Given the description of an element on the screen output the (x, y) to click on. 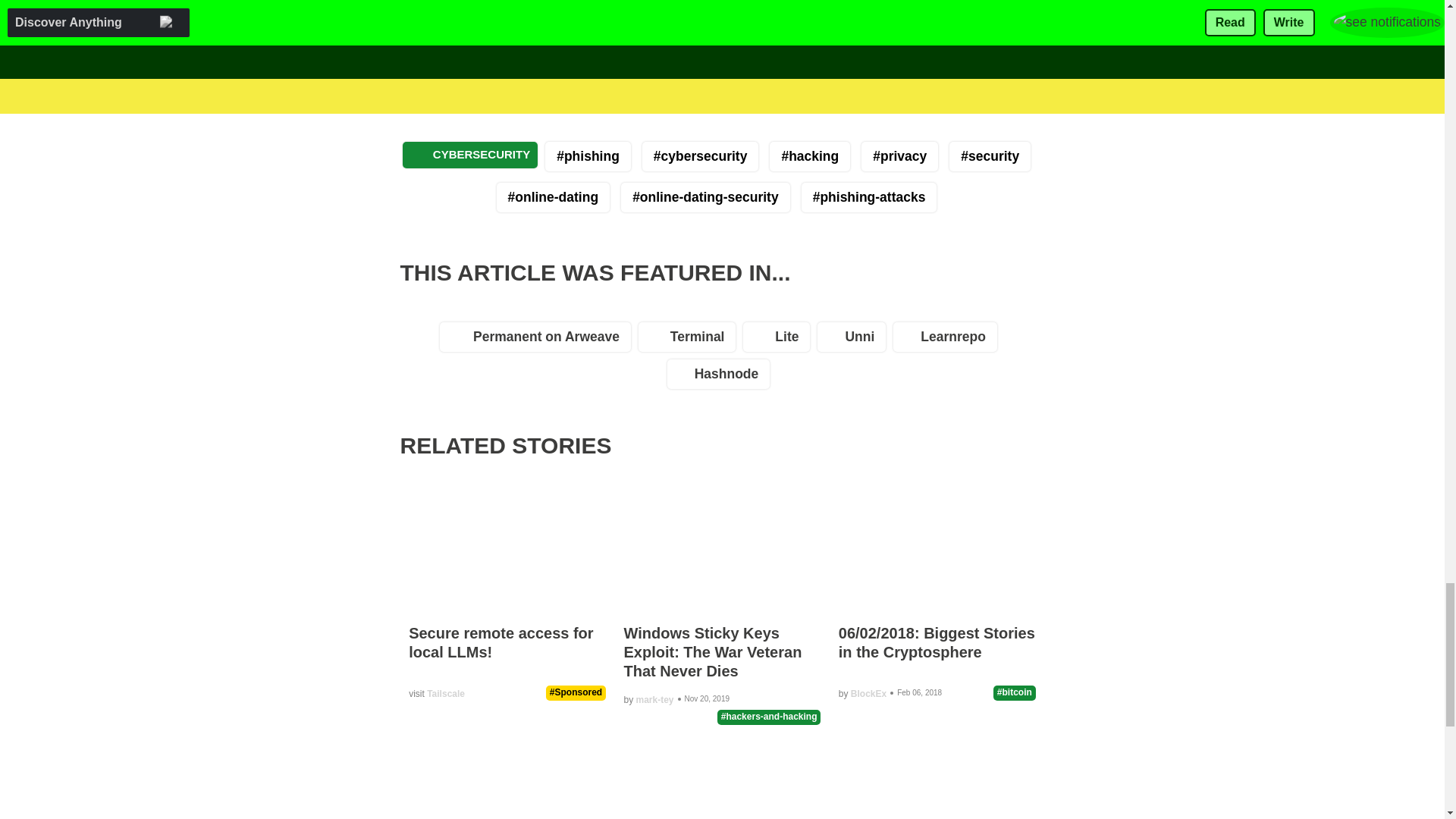
Hashnode (721, 377)
Learnrepo (948, 340)
Read My Stories (584, 10)
CYBERSECURITY (470, 154)
Read Us Now! (693, 10)
 Lite (779, 340)
 Terminal (691, 340)
Permanent on Arweave (539, 340)
Unni (854, 340)
